Given the description of an element on the screen output the (x, y) to click on. 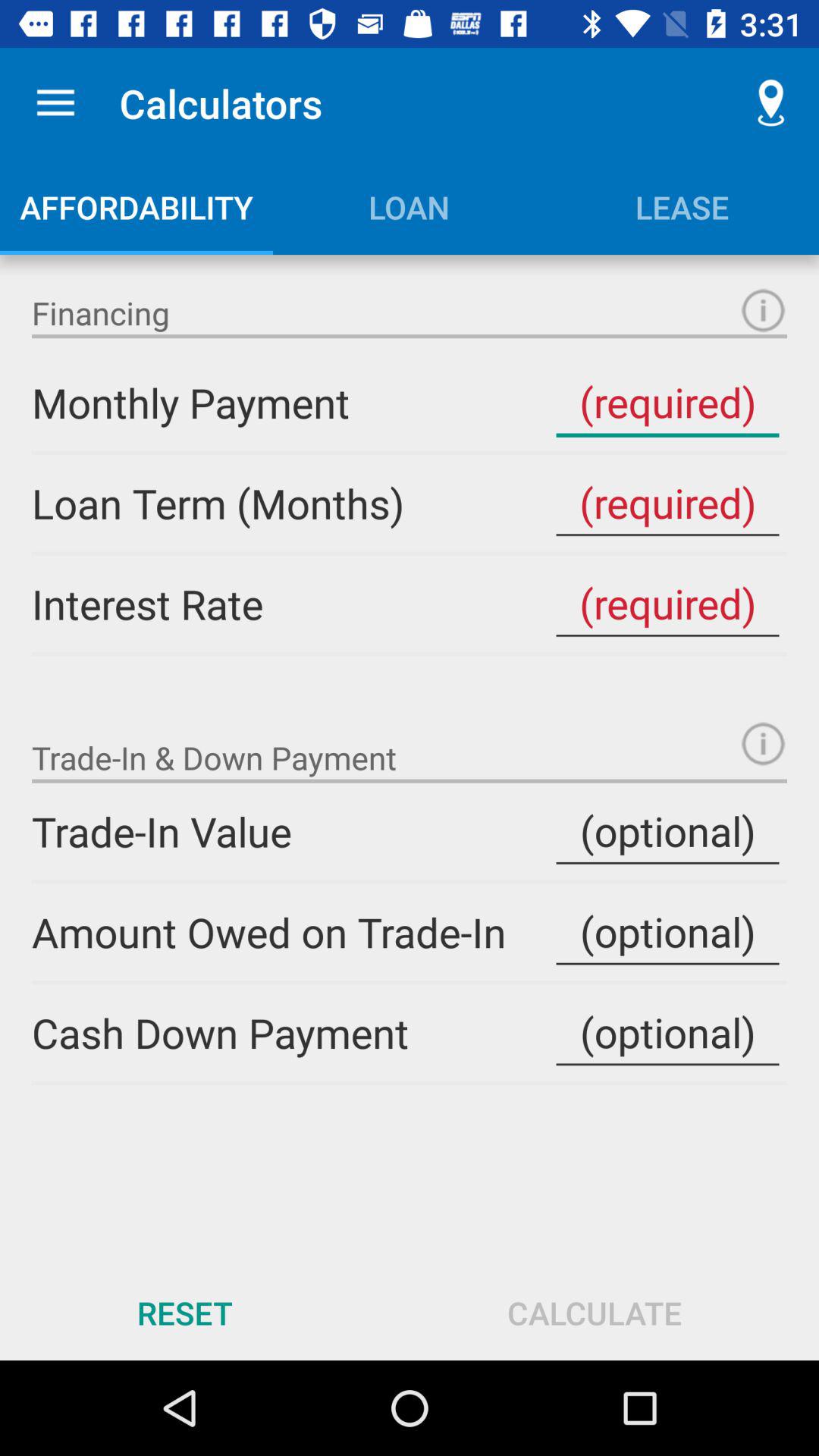
enter amount of cash downpayment (667, 1032)
